Given the description of an element on the screen output the (x, y) to click on. 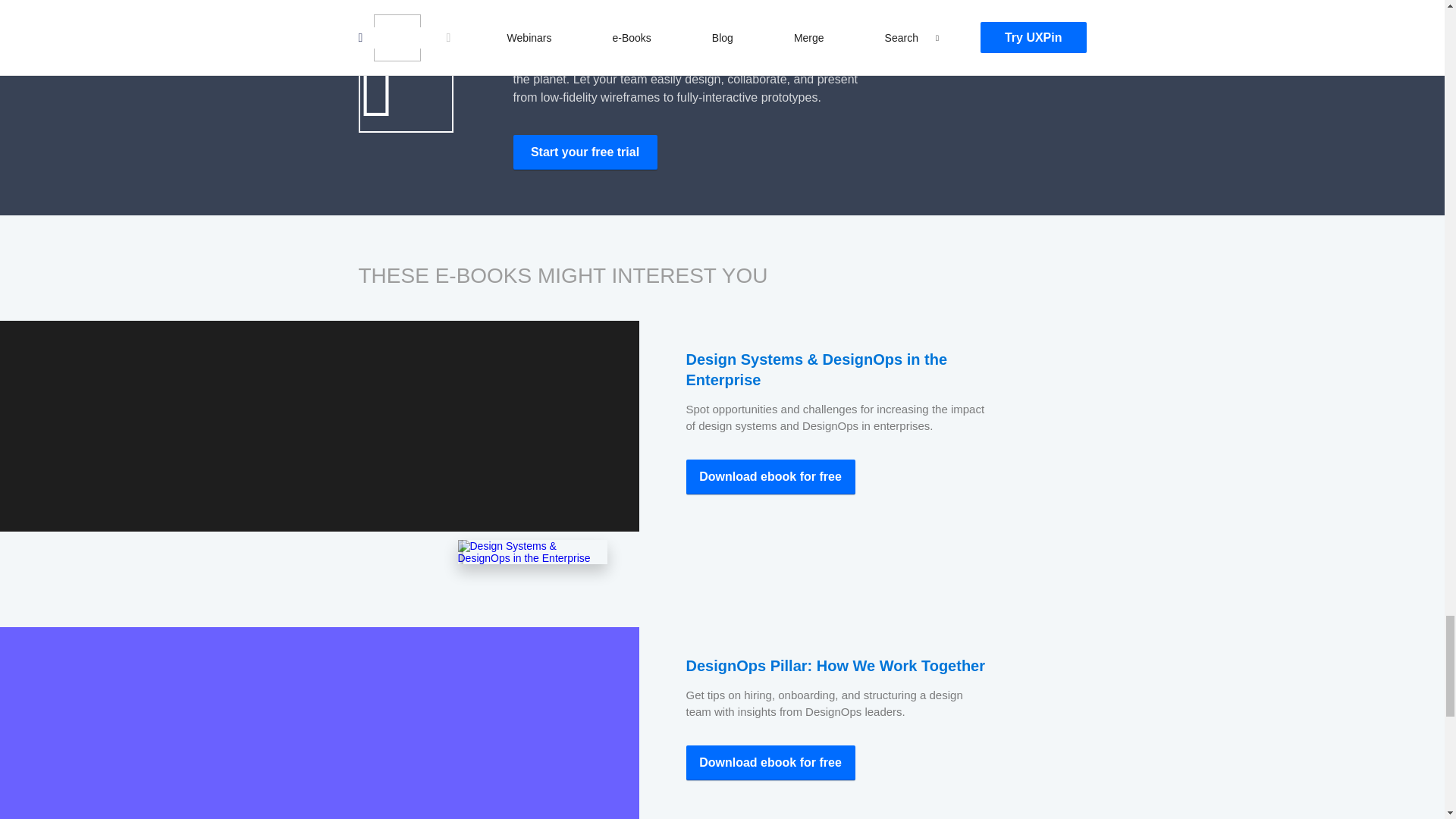
Start your free trial (584, 152)
Download ebook for free (769, 476)
UXPin (584, 152)
